Given the description of an element on the screen output the (x, y) to click on. 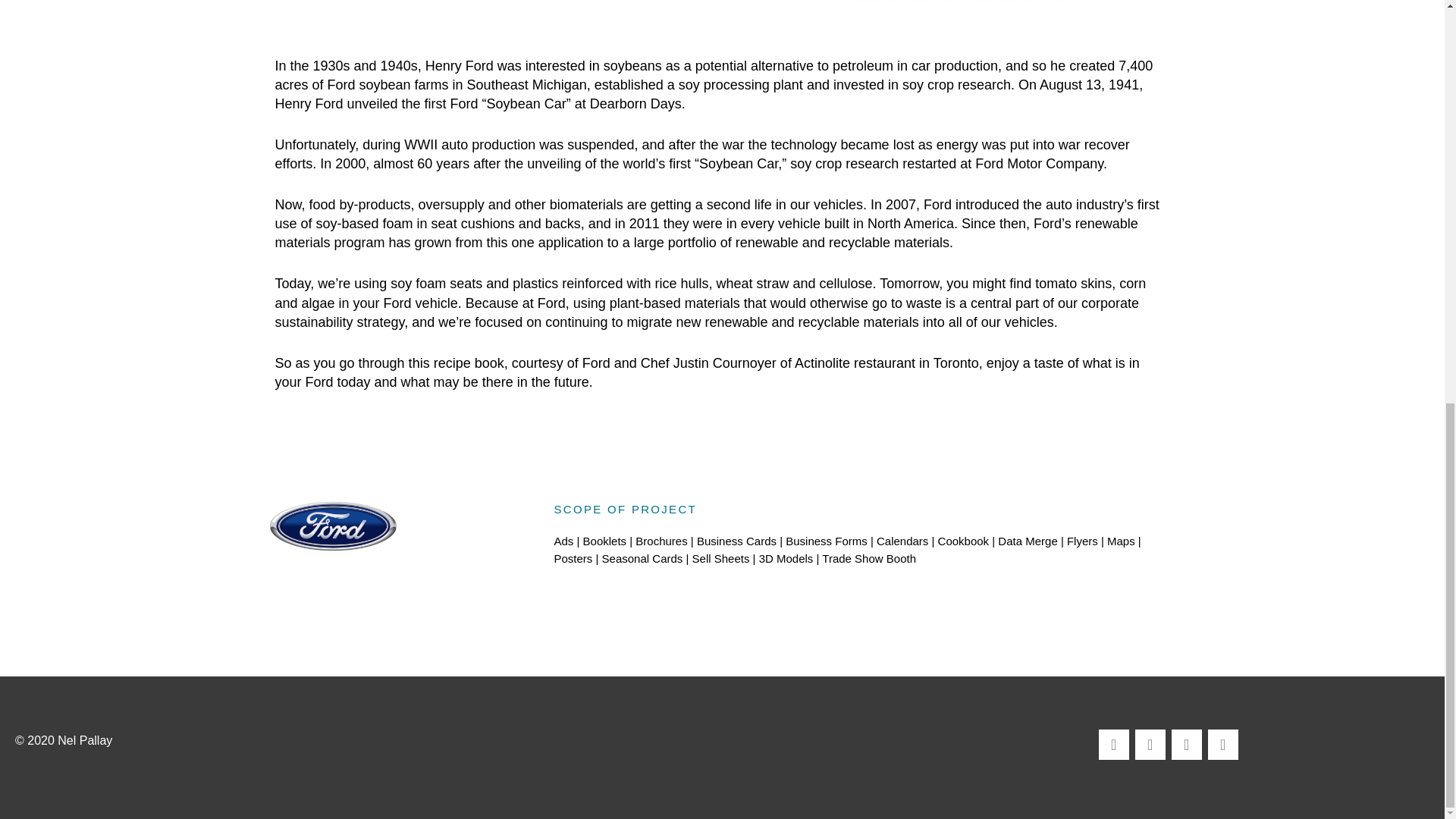
Pinterest (1223, 744)
LinkedIn (1114, 744)
Ford Logo small (332, 525)
Behance (1150, 744)
Instagram (1187, 744)
